Given the description of an element on the screen output the (x, y) to click on. 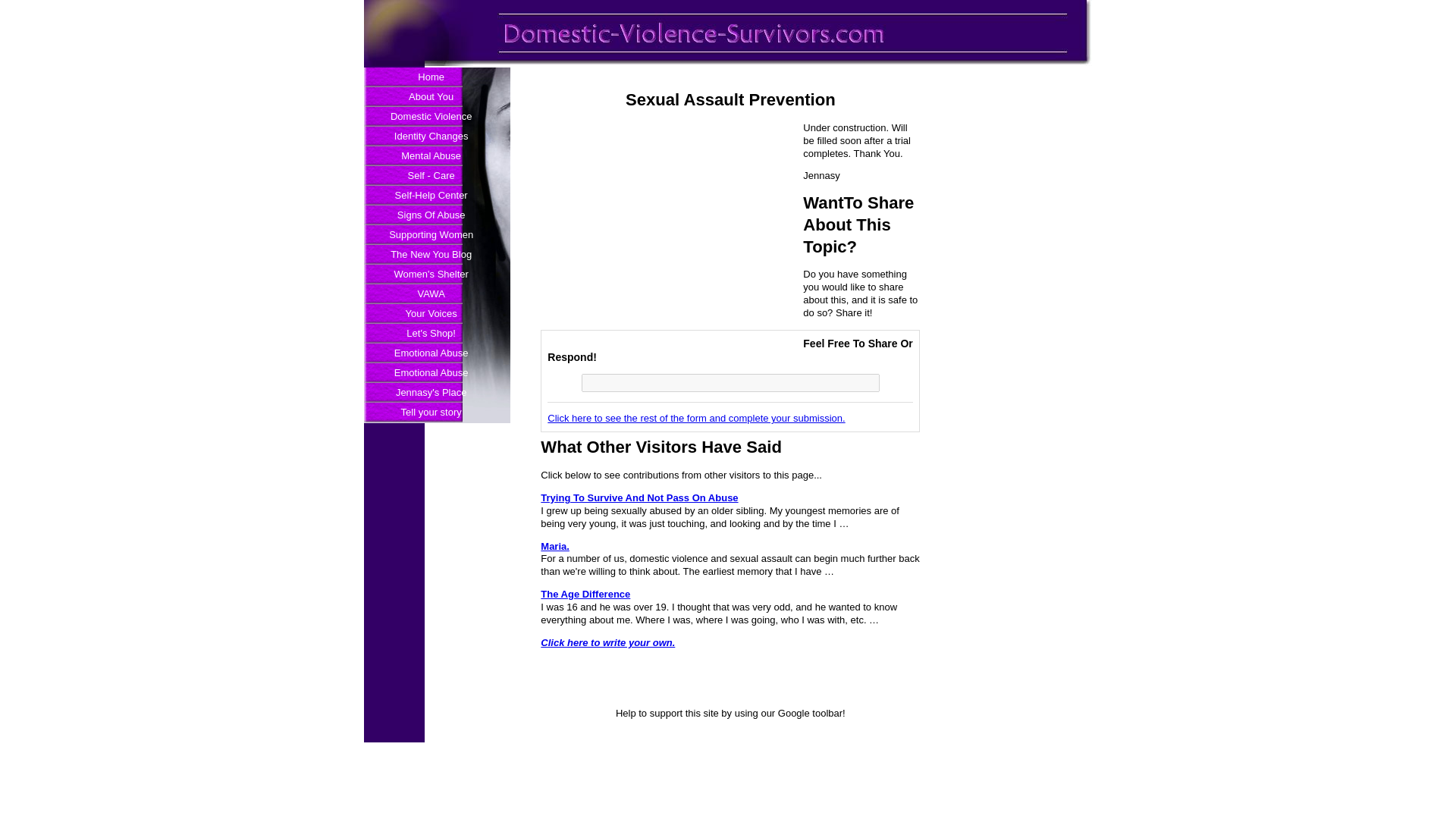
Trying To Survive And Not Pass On Abuse (639, 497)
About You (430, 96)
Emotional Abuse (430, 353)
Supporting Women (430, 234)
Jennasy's Place (430, 392)
Emotional Abuse (430, 373)
Your Voices (430, 313)
Signs Of Abuse (430, 215)
Advertisement (667, 228)
